Given the description of an element on the screen output the (x, y) to click on. 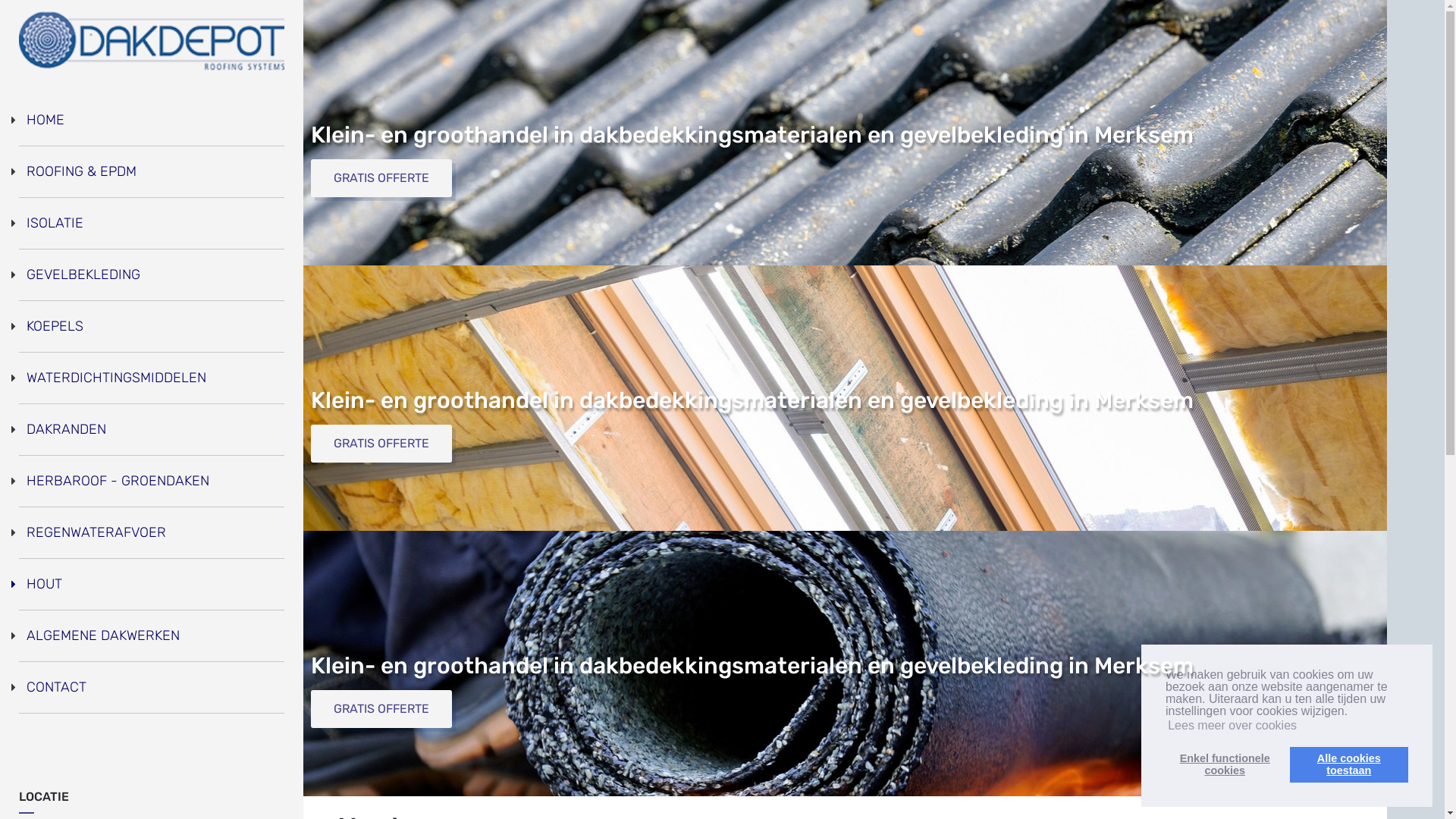
CONTACT Element type: text (56, 686)
WATERDICHTINGSMIDDELEN Element type: text (116, 377)
GRATIS OFFERTE Element type: text (380, 443)
ROOFING & EPDM Element type: text (81, 171)
HOUT Element type: text (44, 583)
Lees meer over cookies Element type: text (1232, 725)
HERBAROOF - GROENDAKEN Element type: text (117, 480)
GEVELBEKLEDING Element type: text (83, 274)
ISOLATIE Element type: text (54, 222)
HOME Element type: text (45, 119)
GRATIS OFFERTE Element type: text (380, 709)
DAKRANDEN Element type: text (66, 428)
REGENWATERAFVOER Element type: text (96, 532)
ALGEMENE DAKWERKEN Element type: text (102, 635)
KOEPELS Element type: text (54, 325)
GRATIS OFFERTE Element type: text (380, 178)
Alle cookies
toestaan Element type: text (1348, 764)
Enkel functionele
cookies Element type: text (1224, 764)
